Given the description of an element on the screen output the (x, y) to click on. 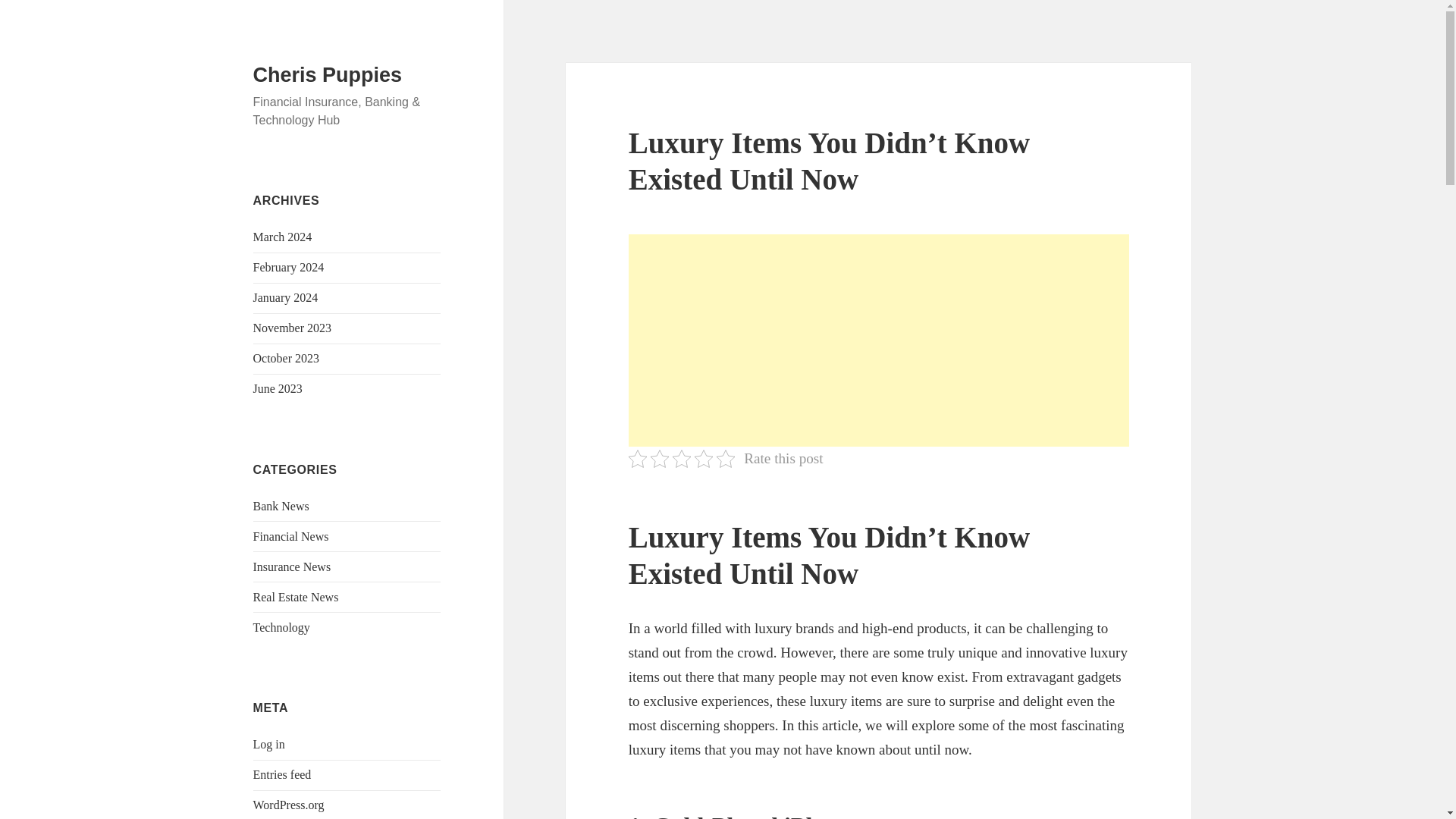
Advertisement (878, 340)
March 2024 (283, 236)
June 2023 (277, 388)
Technology (281, 626)
Financial News (291, 535)
Bank News (280, 505)
February 2024 (288, 267)
Real Estate News (296, 596)
WordPress.org (288, 804)
January 2024 (285, 297)
Insurance News (292, 566)
November 2023 (292, 327)
Cheris Puppies (328, 74)
Entries feed (282, 774)
Log in (269, 744)
